Given the description of an element on the screen output the (x, y) to click on. 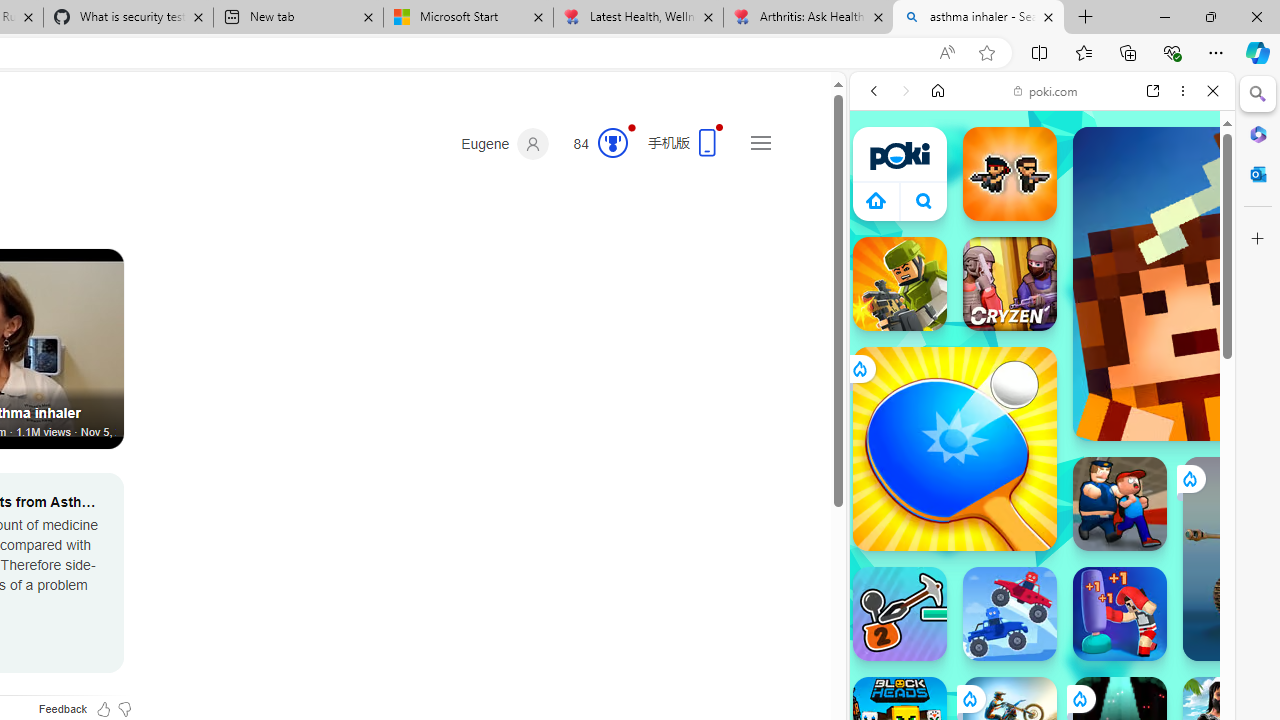
Battle Wheels Battle Wheels (1009, 613)
Zombie Rush (1009, 173)
Microsoft Rewards 81 (594, 143)
Feedback Dislike (123, 709)
Shooting Games (1042, 518)
Show More Shooting Games (1164, 521)
